Given the description of an element on the screen output the (x, y) to click on. 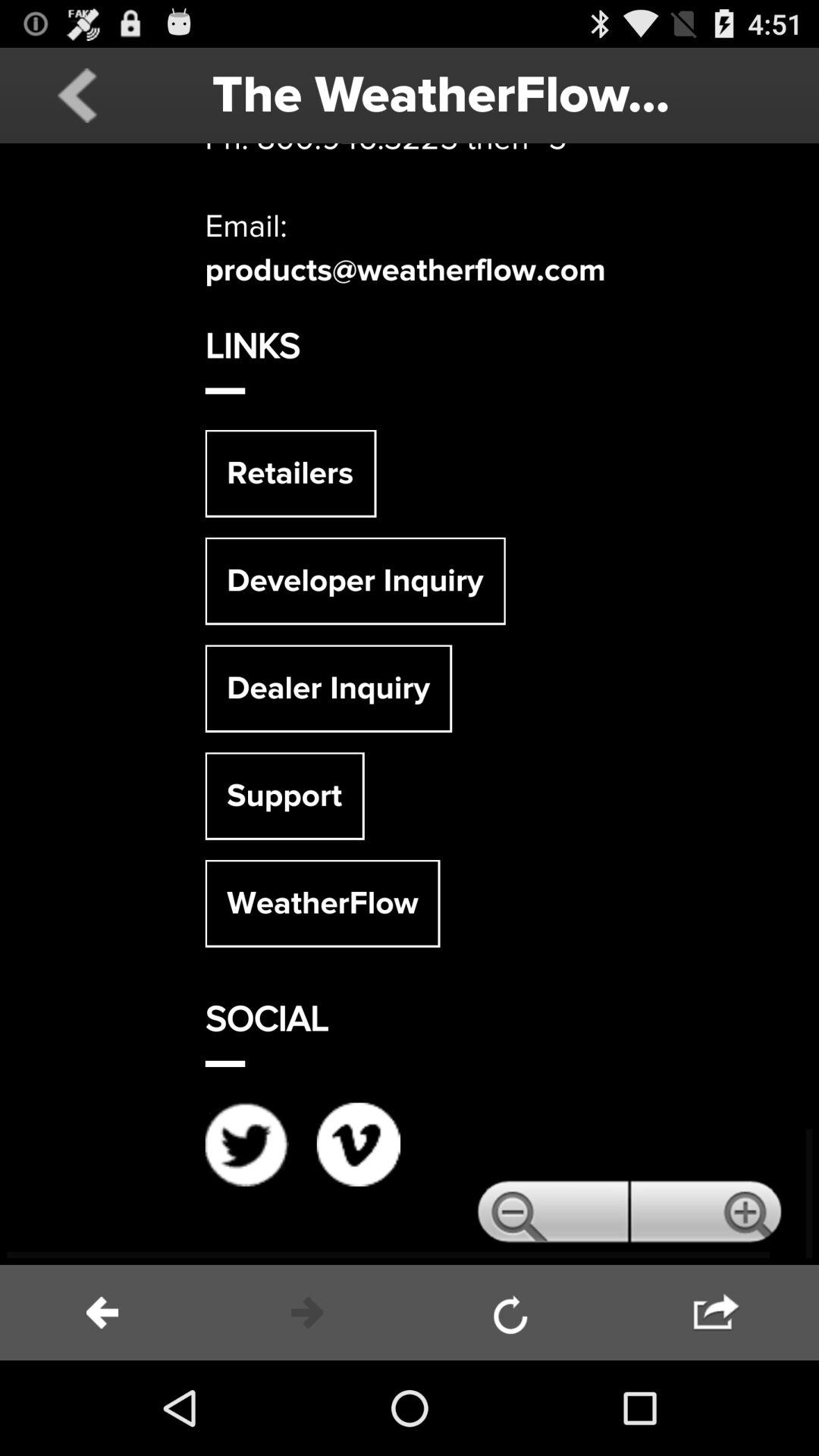
go forward (306, 1312)
